Given the description of an element on the screen output the (x, y) to click on. 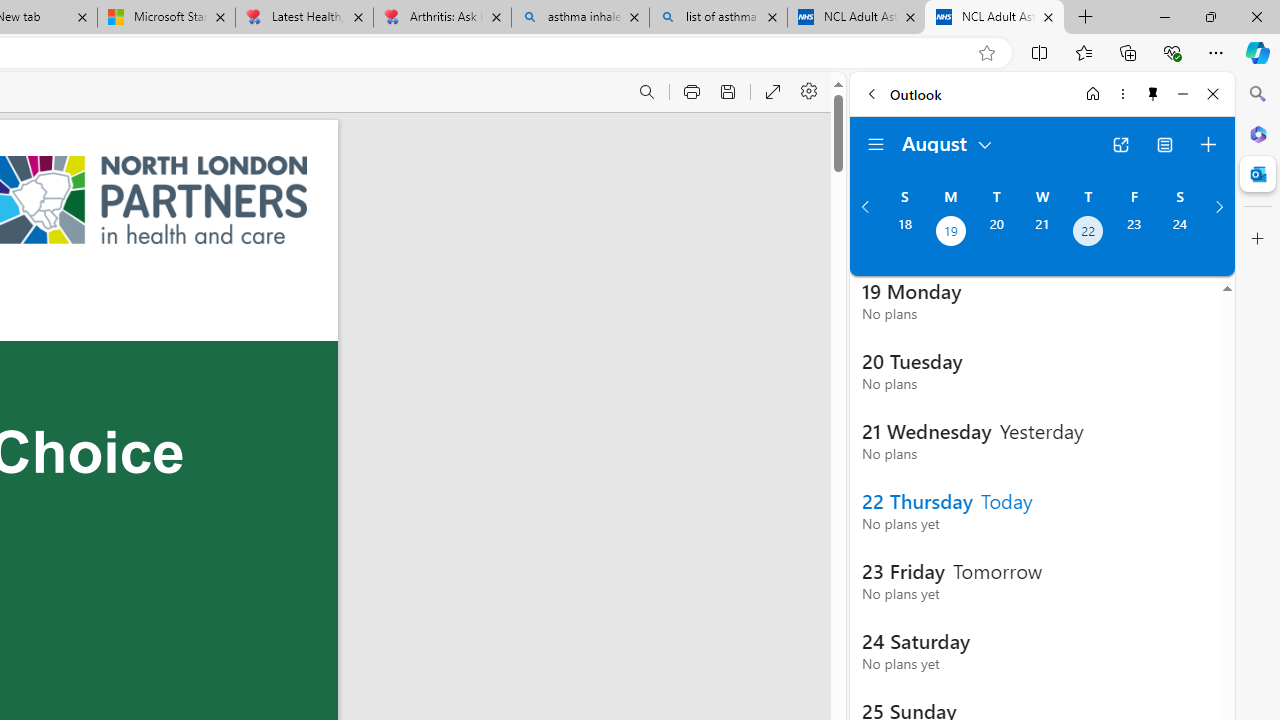
View Switcher. Current view is Agenda view (1165, 144)
Create event (1208, 144)
Settings and more (809, 92)
